Given the description of an element on the screen output the (x, y) to click on. 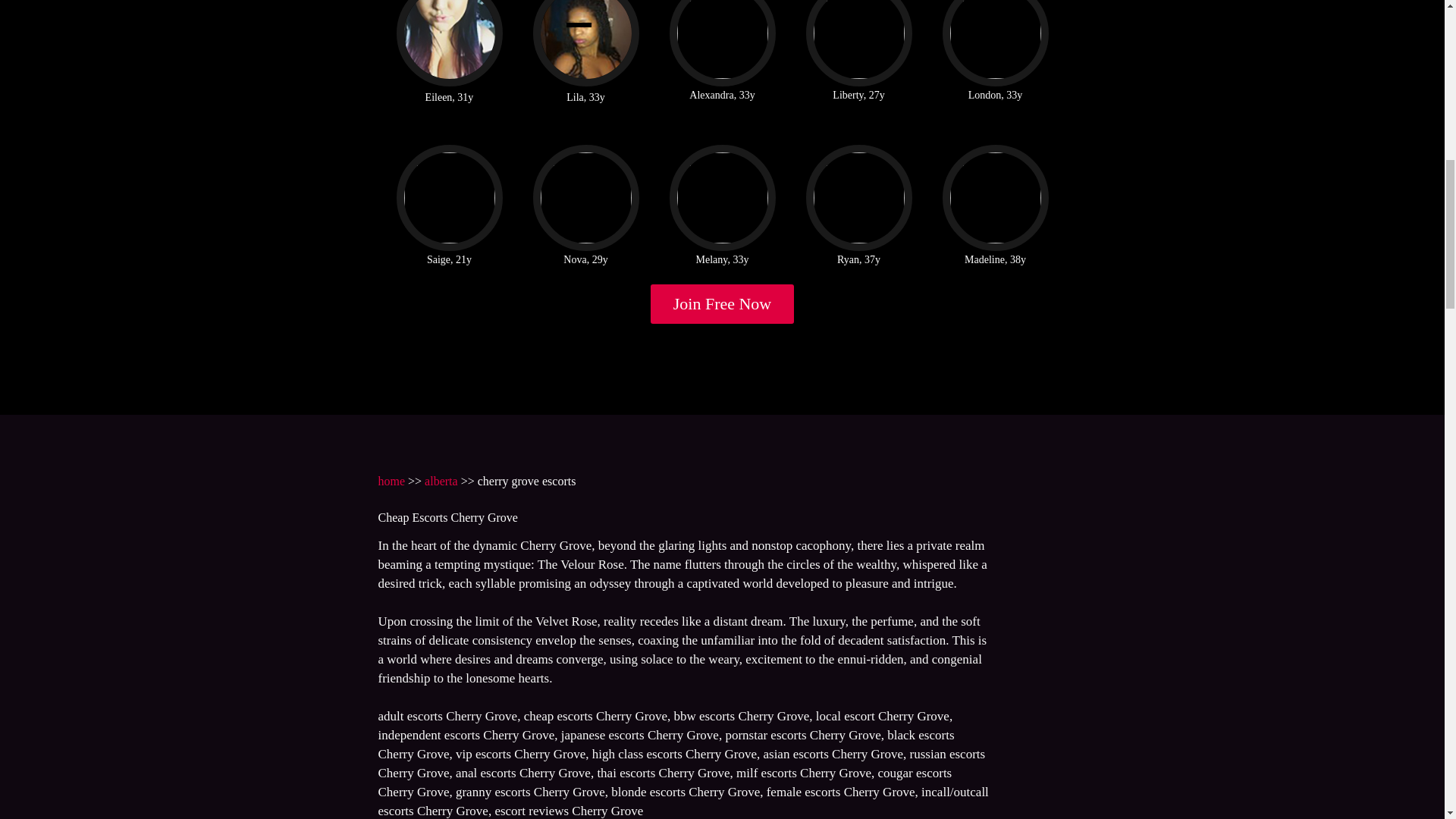
home (390, 481)
Join (722, 303)
Join Free Now (722, 303)
alberta (441, 481)
